Given the description of an element on the screen output the (x, y) to click on. 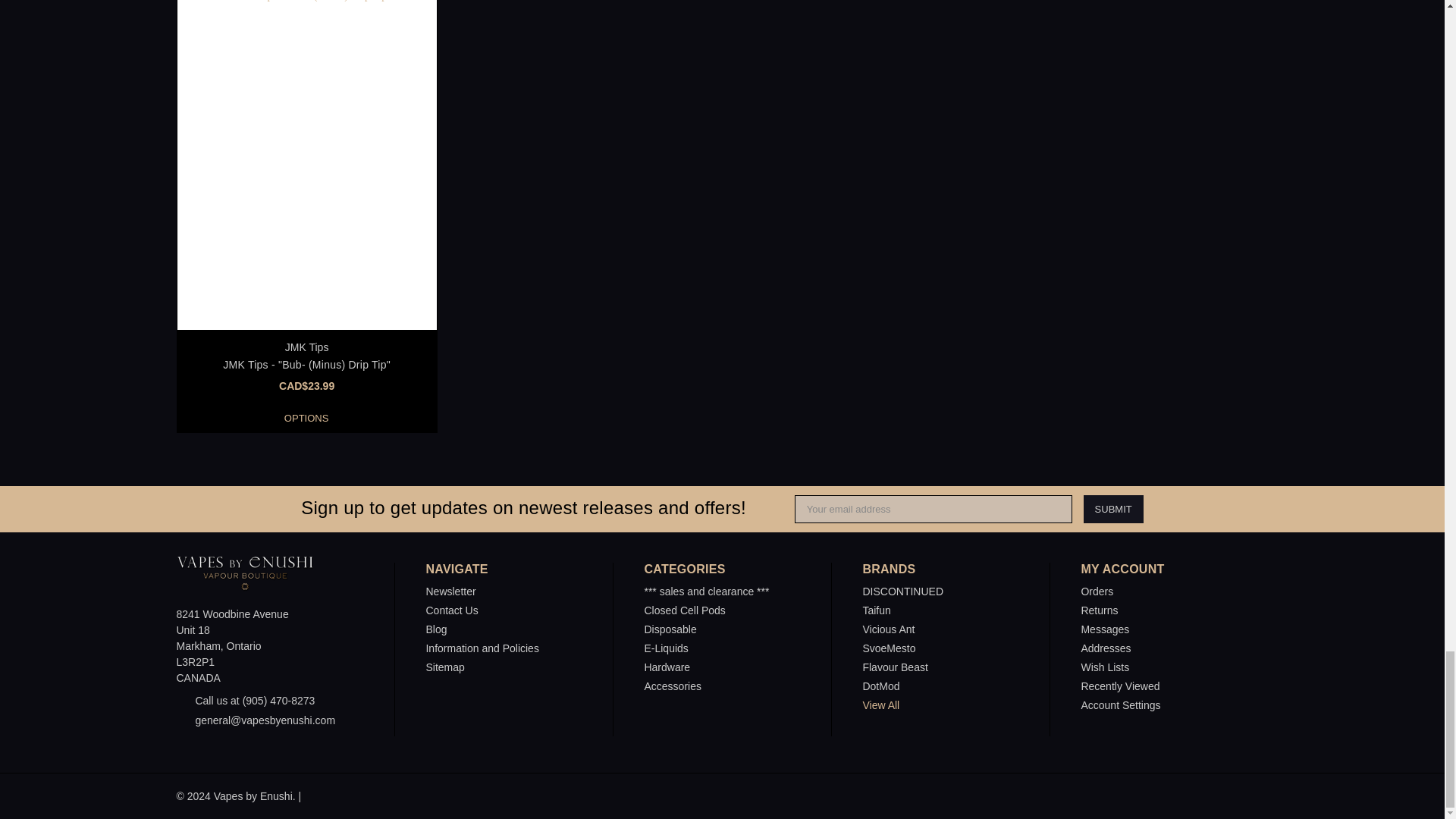
Submit (1112, 509)
